Given the description of an element on the screen output the (x, y) to click on. 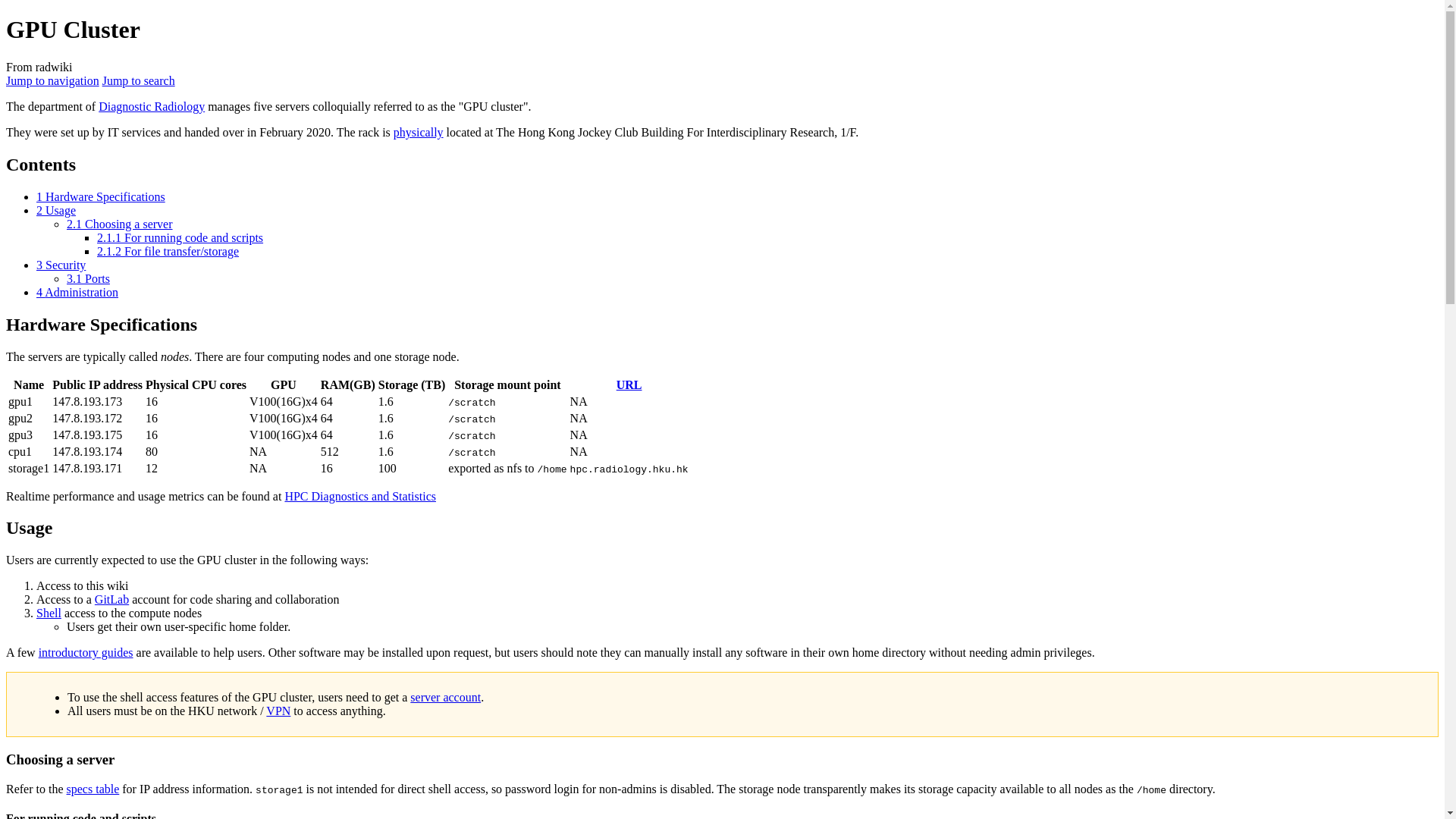
3.1 Ports (88, 278)
introductory guides (86, 652)
Jump to navigation (52, 80)
GPU Cluster (92, 788)
Shell (48, 612)
GitLab Service (111, 599)
specs table (92, 788)
server account (445, 697)
Domain registration (628, 383)
URL (628, 383)
4 Administration (76, 291)
Physical Access (418, 132)
2.1 Choosing a server (119, 223)
User account (445, 697)
physically (418, 132)
